Given the description of an element on the screen output the (x, y) to click on. 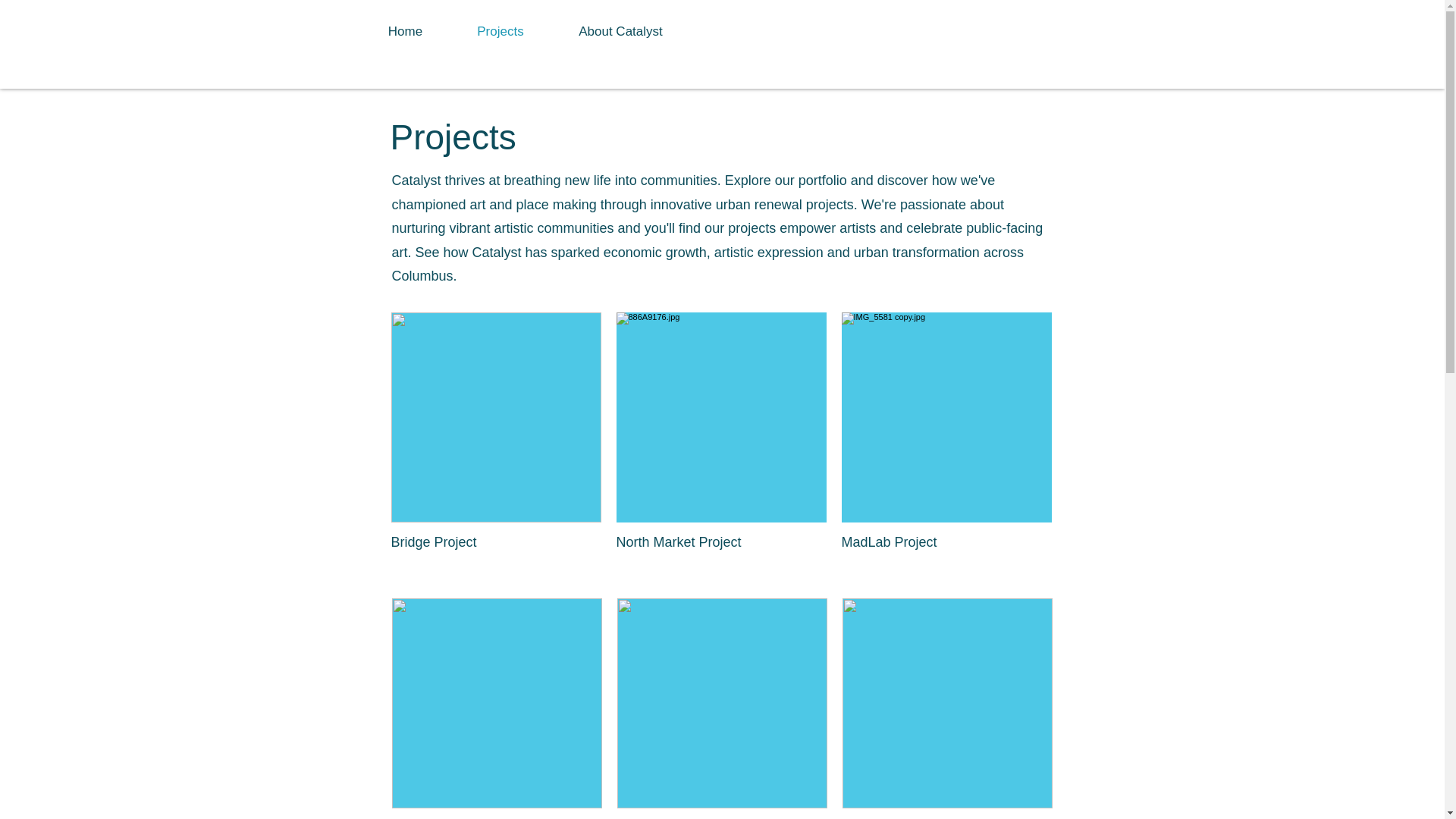
Home (405, 31)
About Catalyst (620, 31)
Projects (500, 31)
